Given the description of an element on the screen output the (x, y) to click on. 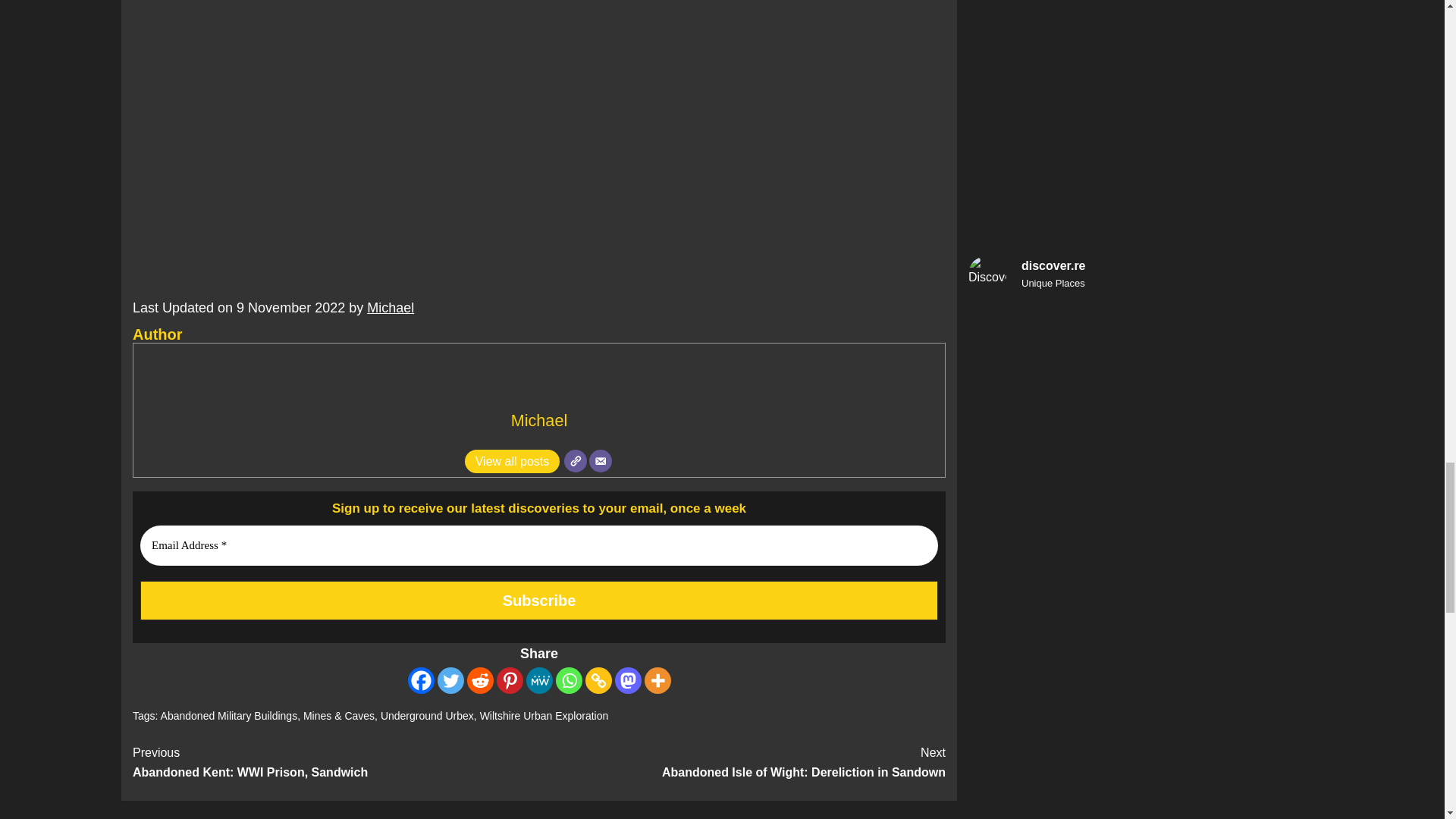
Twitter (449, 680)
Pinterest (509, 680)
Subscribe (538, 599)
Reddit (480, 680)
Email Address (538, 545)
MeWe (539, 680)
Michael (539, 420)
View all posts (512, 461)
Copy Link (598, 680)
Facebook (420, 680)
